Given the description of an element on the screen output the (x, y) to click on. 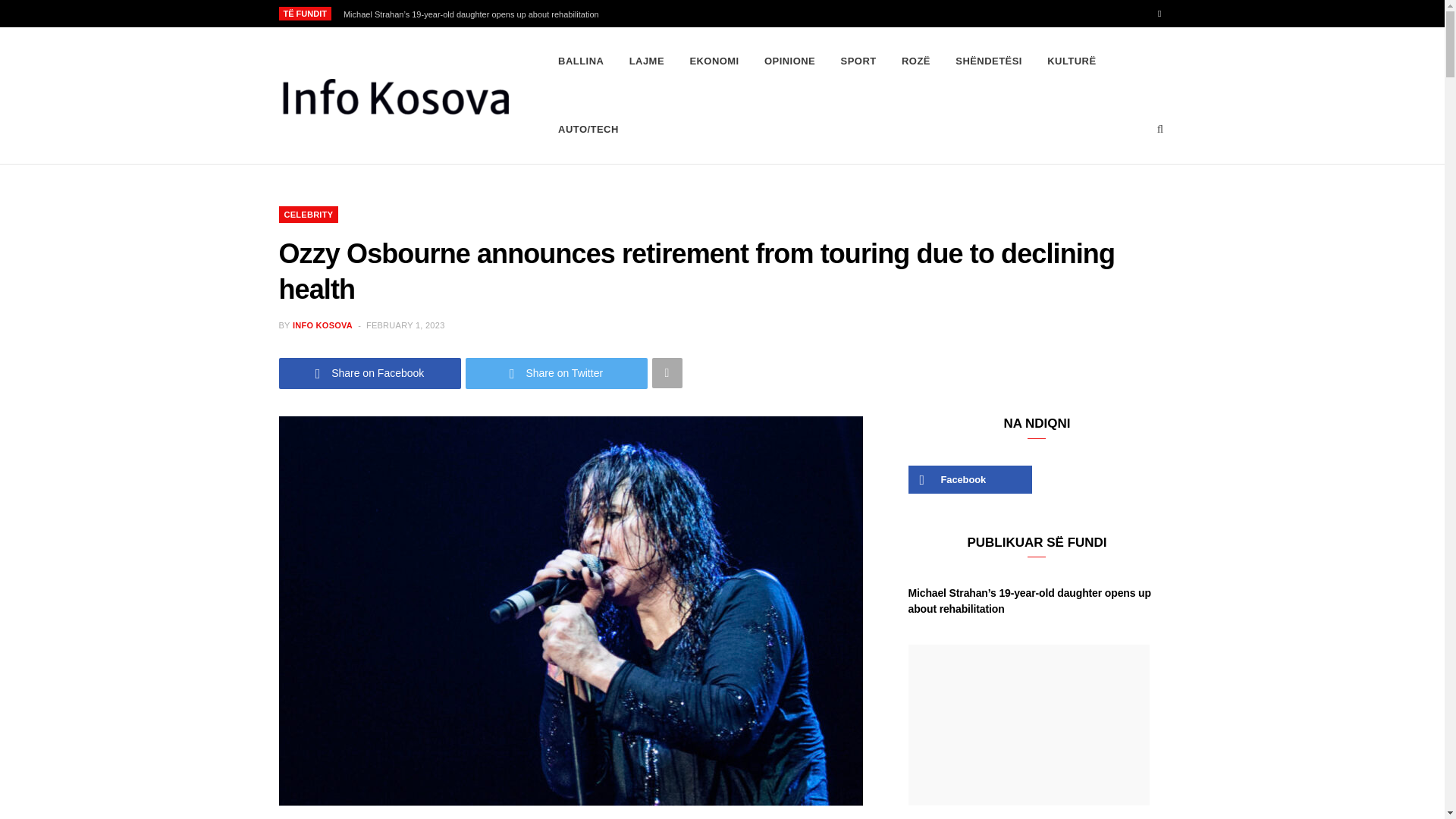
Share on Twitter (556, 373)
Posts by Info Kosova (322, 325)
Info Kosova (394, 95)
INFO KOSOVA (322, 325)
Download This Theme (580, 61)
Share on Facebook (370, 373)
OPINIONE (789, 61)
Share on Facebook (370, 373)
CELEBRITY (309, 214)
FEBRUARY 1, 2023 (405, 325)
